Given the description of an element on the screen output the (x, y) to click on. 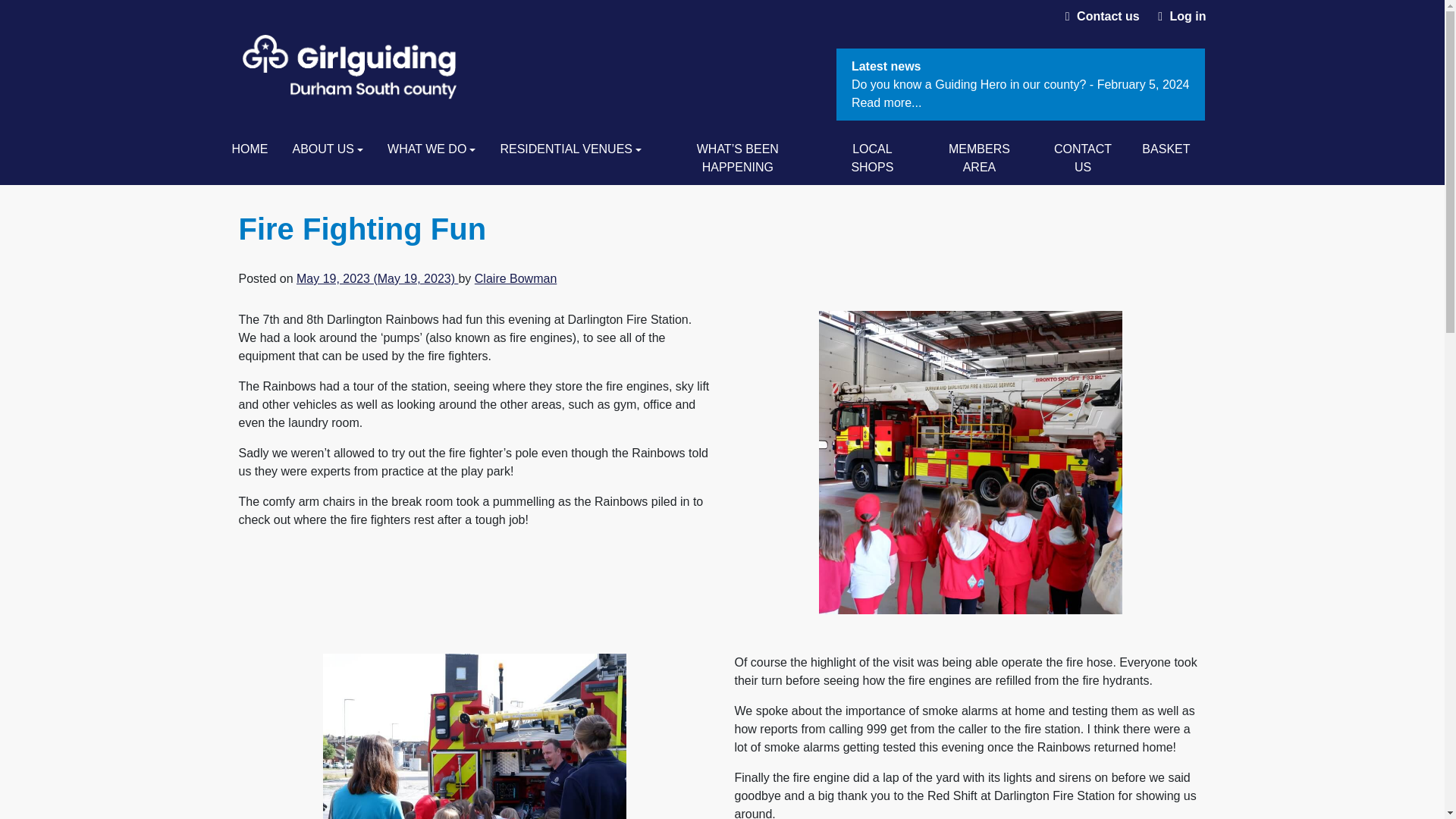
Claire Bowman (515, 278)
Read more... (886, 101)
Do you know a Guiding Hero in our county? (972, 83)
CONTACT US (1083, 158)
ABOUT US (327, 149)
Residential Venues (570, 149)
About us (327, 149)
HOME (250, 149)
Log in (1188, 15)
Contact us (1108, 15)
